Given the description of an element on the screen output the (x, y) to click on. 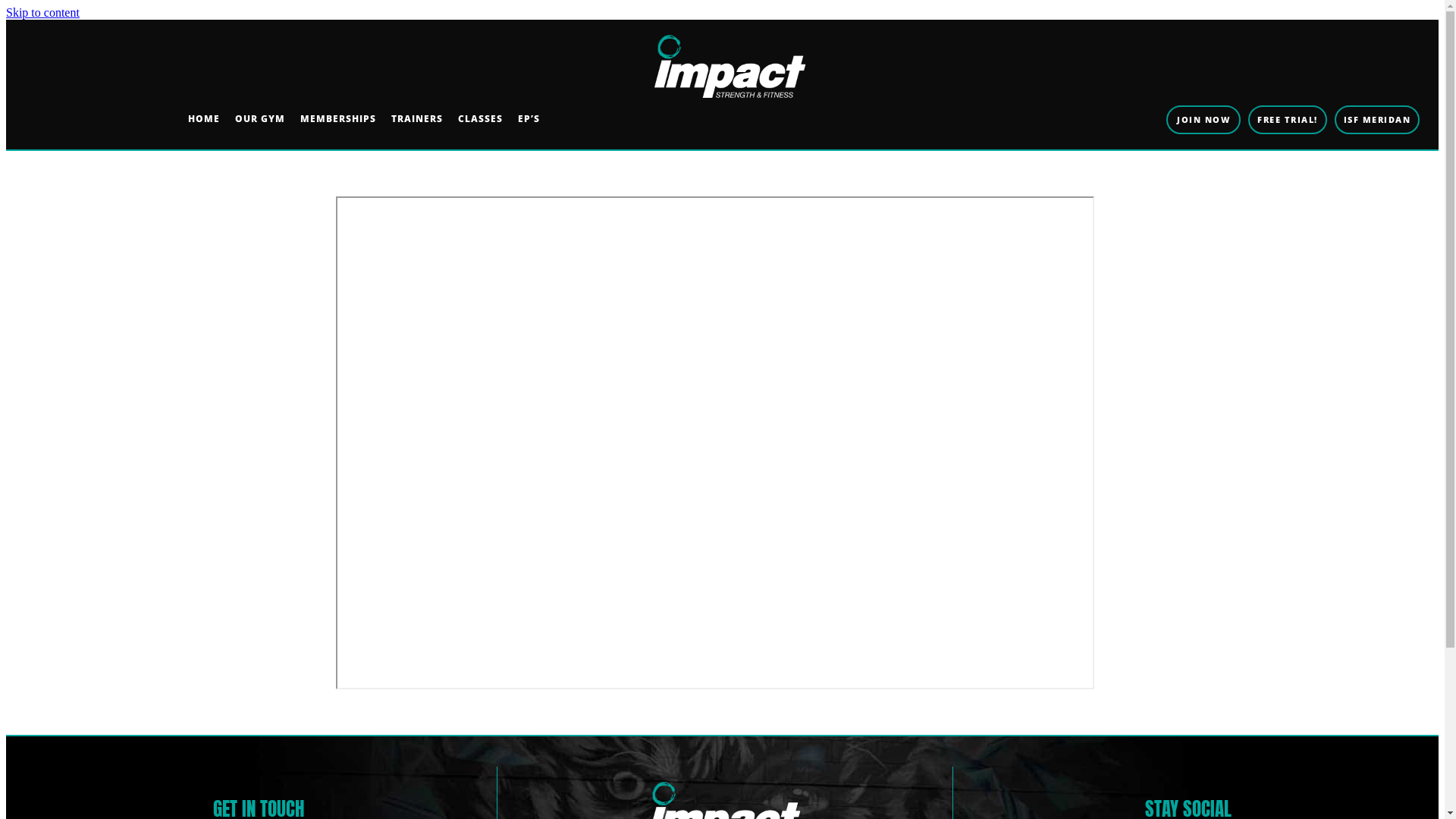
Skip to content Element type: text (42, 12)
CLASSES Element type: text (480, 118)
HOME Element type: text (203, 118)
MEMBERSHIPS Element type: text (337, 118)
FREE TRIAL! Element type: text (1287, 119)
TRAINERS Element type: text (416, 118)
OUR GYM Element type: text (259, 118)
ISF MERIDAN Element type: text (1377, 119)
JOIN NOW Element type: text (1203, 119)
